Given the description of an element on the screen output the (x, y) to click on. 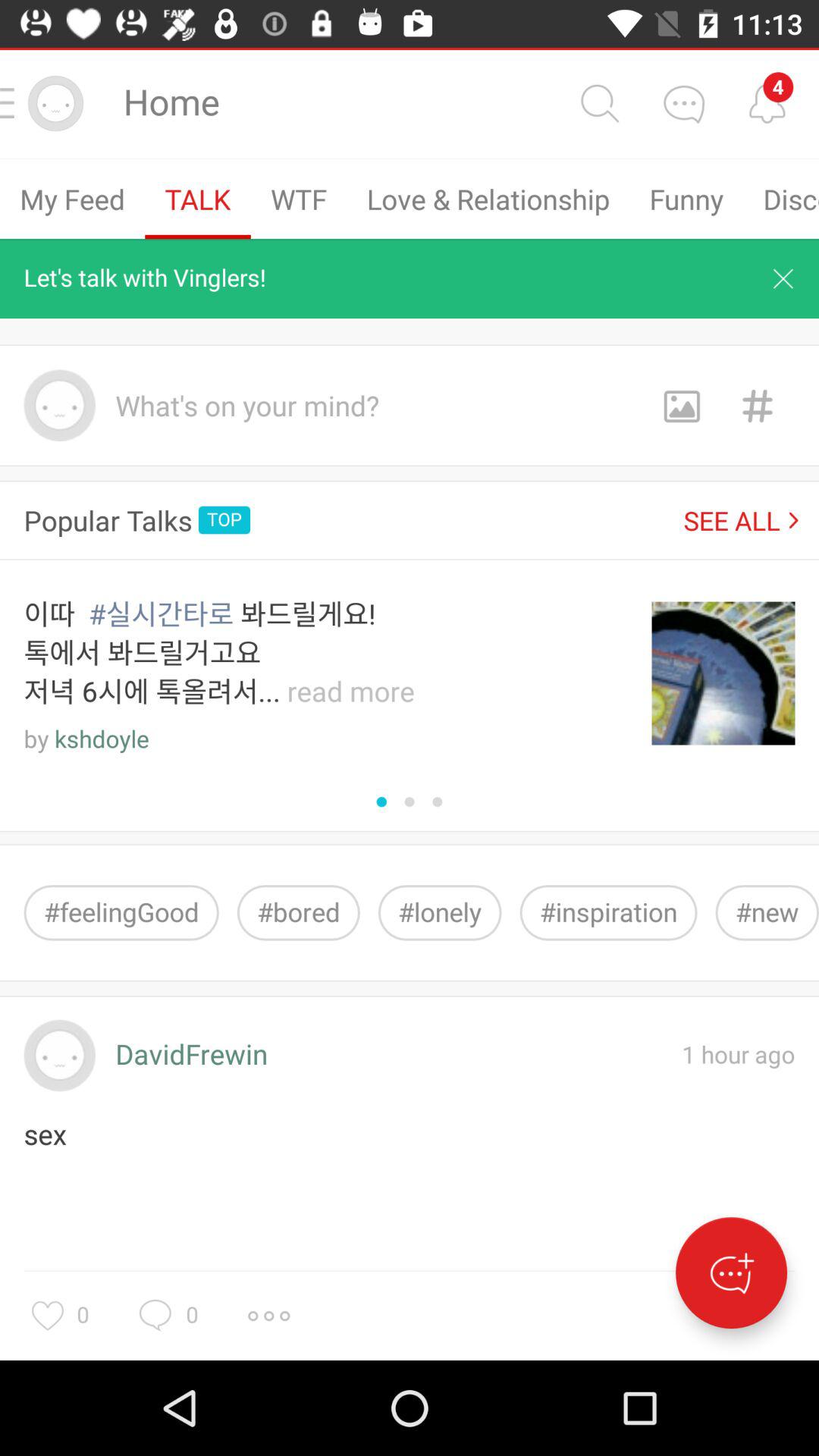
choose icon to the right of #feelinggood item (298, 912)
